Given the description of an element on the screen output the (x, y) to click on. 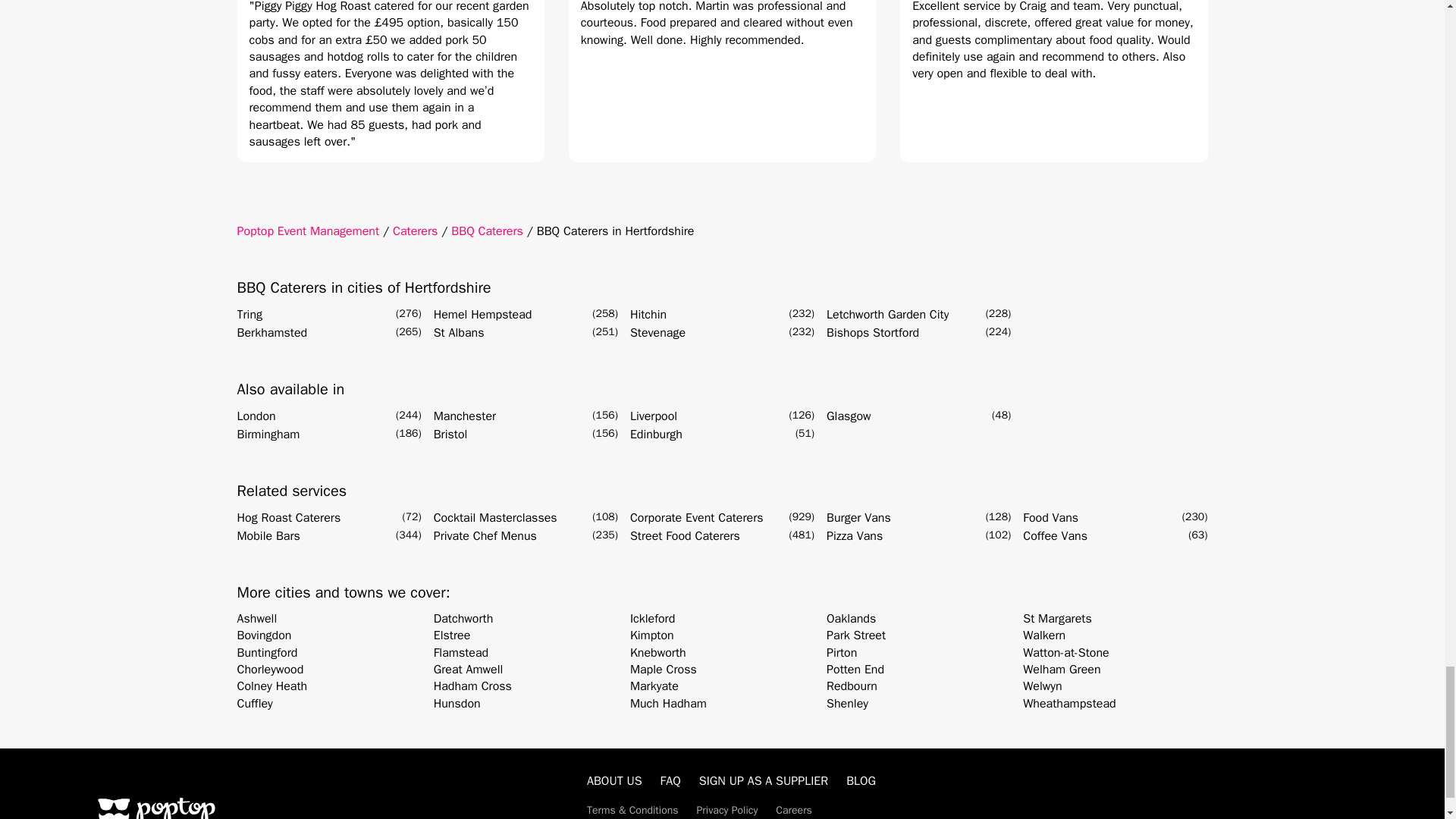
Hitchin (648, 314)
Stevenage (657, 332)
Letchworth Garden City (888, 314)
Coffee Vans (1055, 536)
Private Chef Menus (485, 536)
Hog Roast Caterers (287, 517)
ABOUT US (614, 780)
BBQ Caterers (486, 231)
Mobile Bars (267, 536)
Birmingham (267, 434)
